Given the description of an element on the screen output the (x, y) to click on. 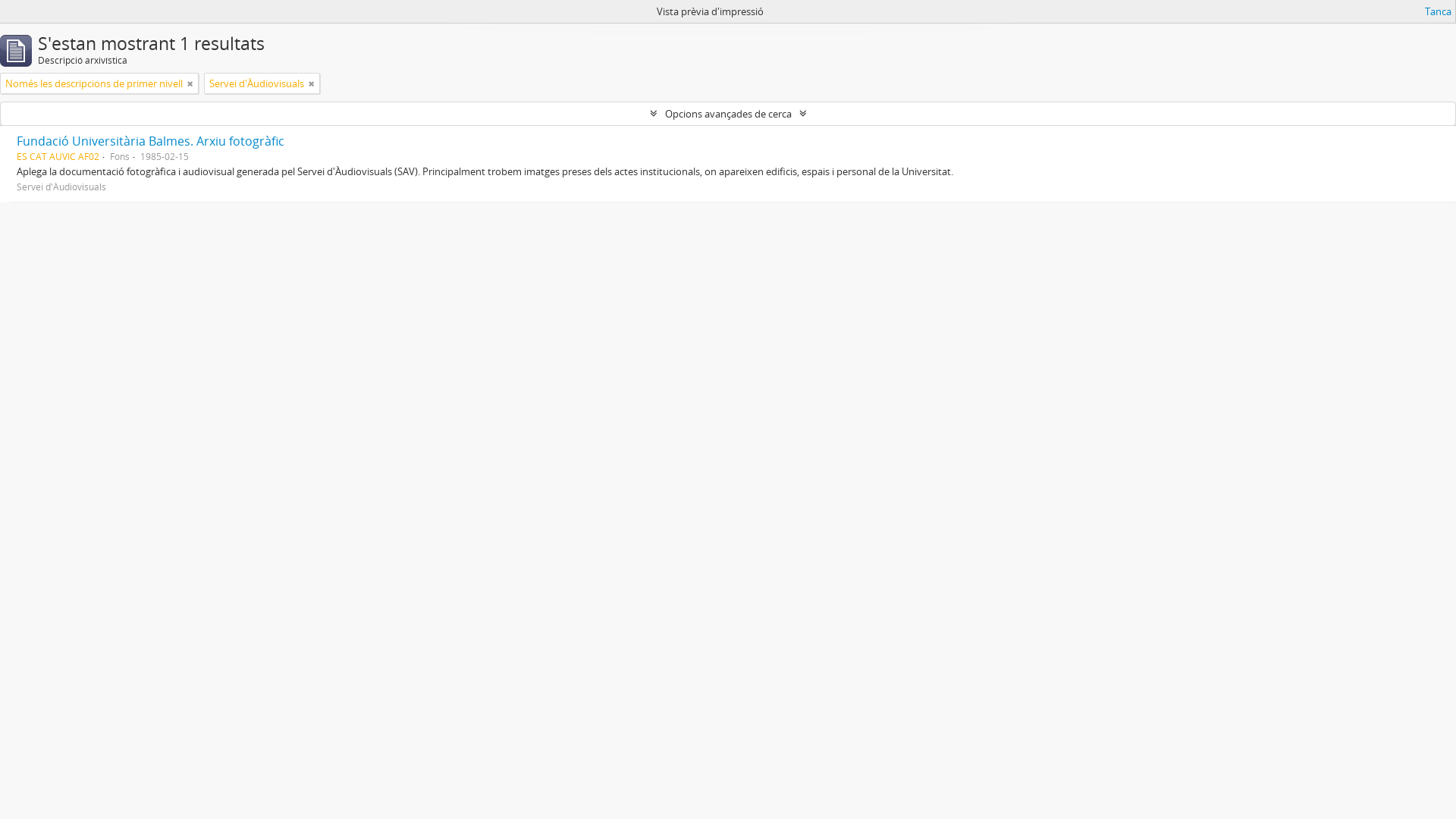
Tanca Element type: text (1437, 10)
